Given the description of an element on the screen output the (x, y) to click on. 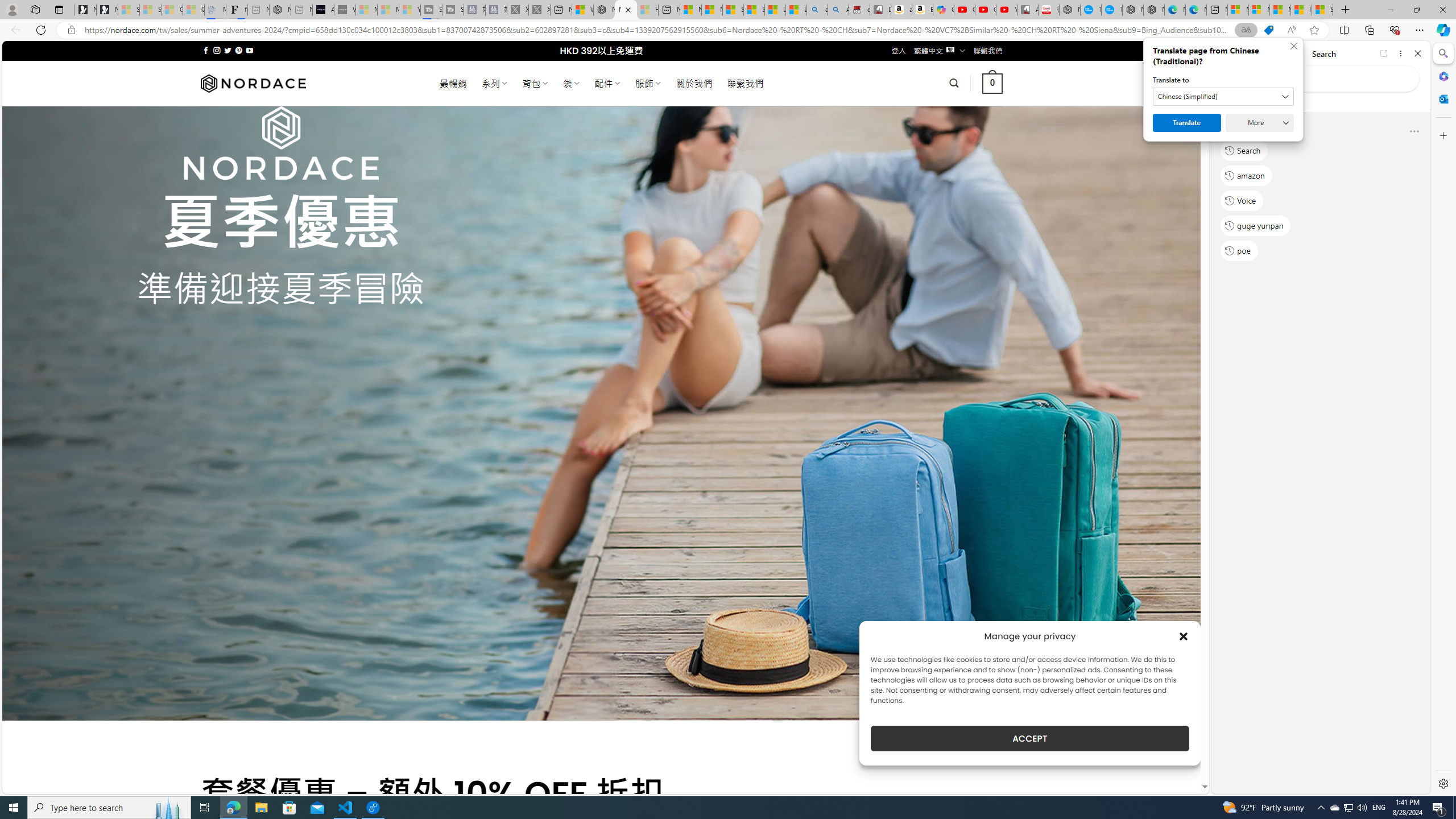
Open link in new tab (1383, 53)
YouTube Kids - An App Created for Kids to Explore Content (1006, 9)
Follow on YouTube (249, 50)
Microsoft Start Sports - Sleeping (365, 9)
Customize (1442, 135)
Follow on Twitter (227, 50)
